Given the description of an element on the screen output the (x, y) to click on. 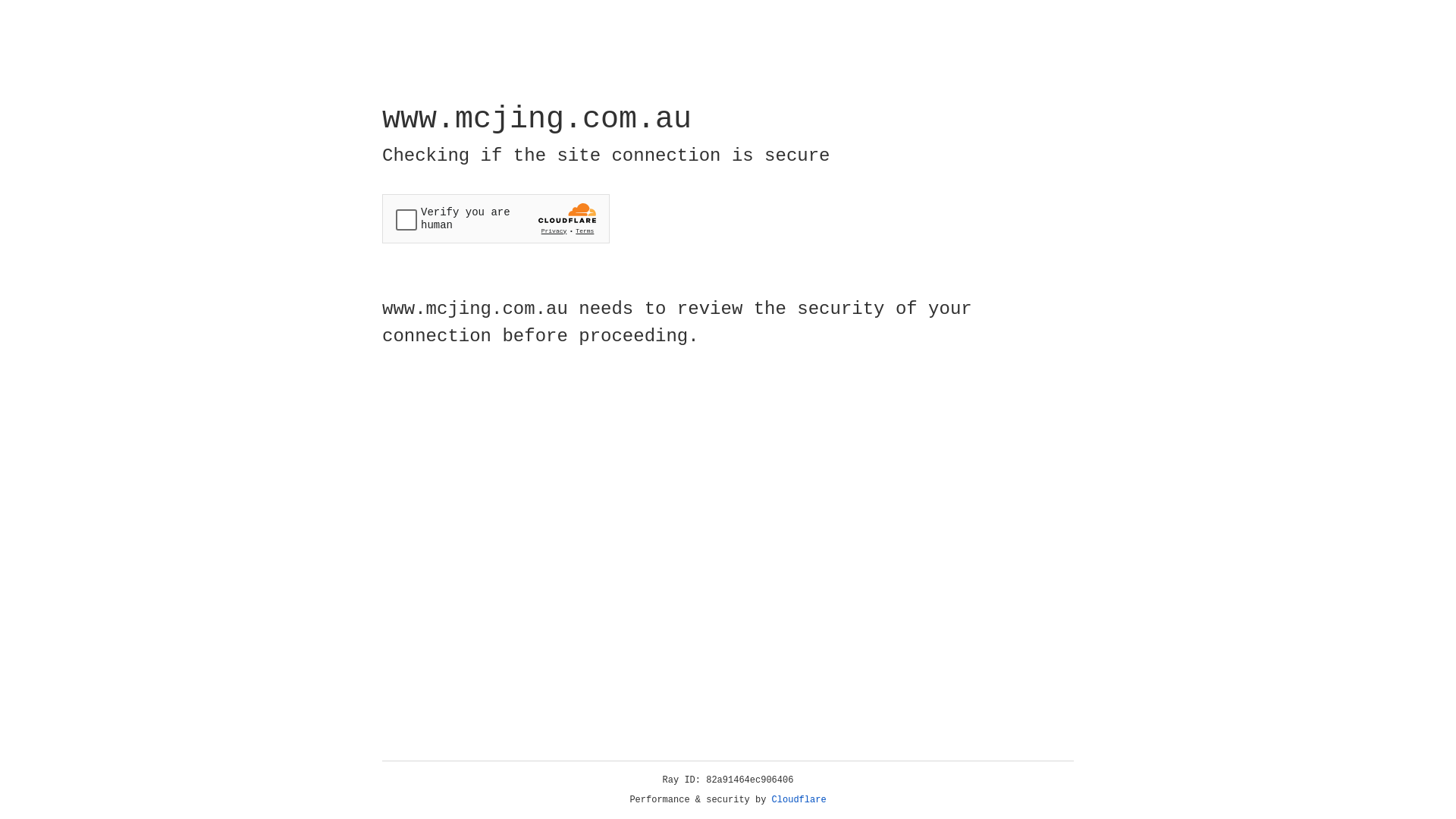
Widget containing a Cloudflare security challenge Element type: hover (495, 218)
Cloudflare Element type: text (798, 799)
